Given the description of an element on the screen output the (x, y) to click on. 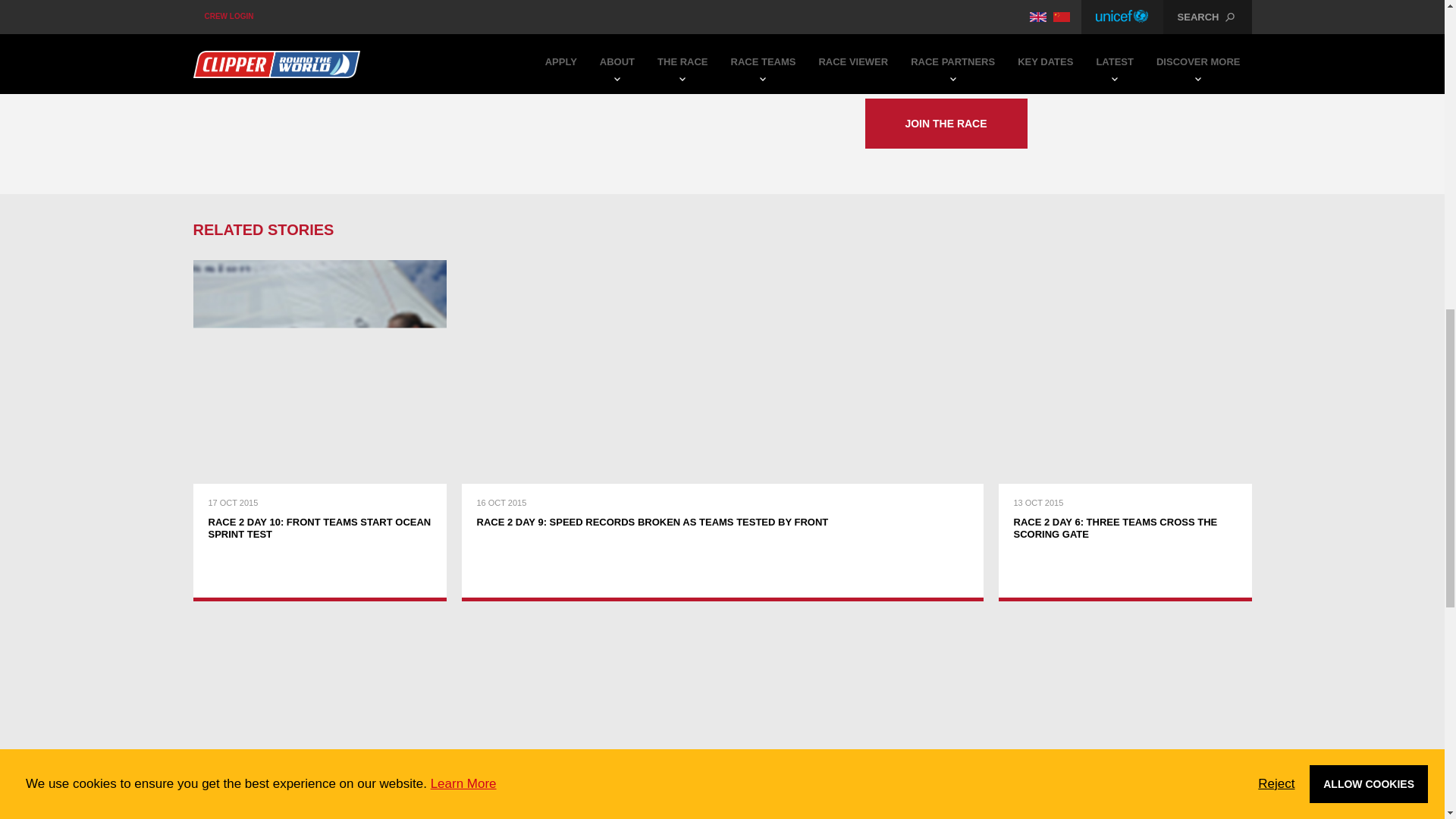
Share on Pinterest (292, 13)
Share on Reddit (357, 13)
Share on Twitter (233, 13)
Share on StumbleUpon (391, 13)
Share on LinkedIn (263, 13)
Share on Facebook (201, 13)
